Given the description of an element on the screen output the (x, y) to click on. 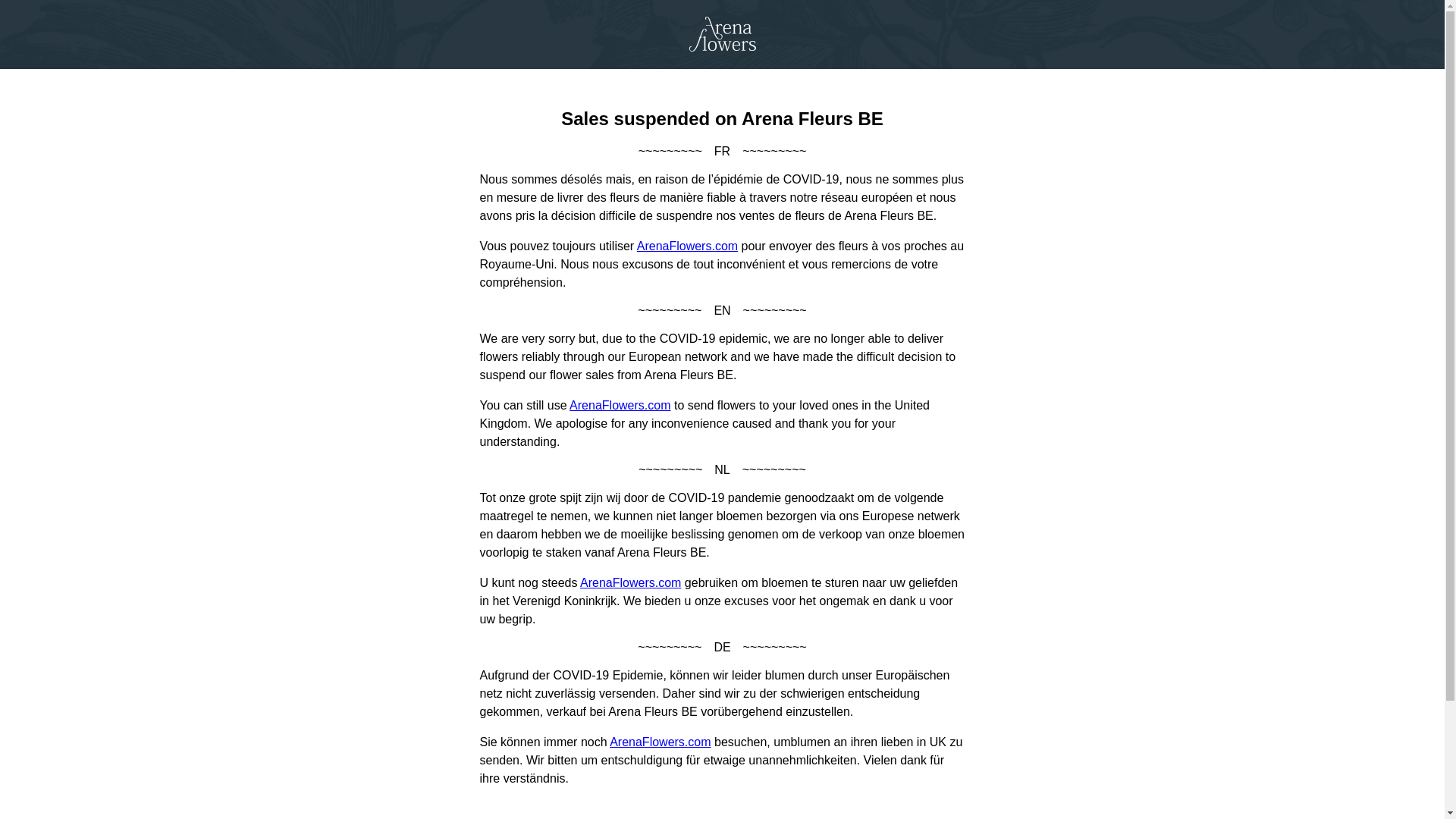
ArenaFlowers.com Element type: text (630, 582)
ArenaFlowers.com Element type: text (687, 245)
ArenaFlowers.com Element type: text (619, 404)
ArenaFlowers.com Element type: text (659, 741)
